Given the description of an element on the screen output the (x, y) to click on. 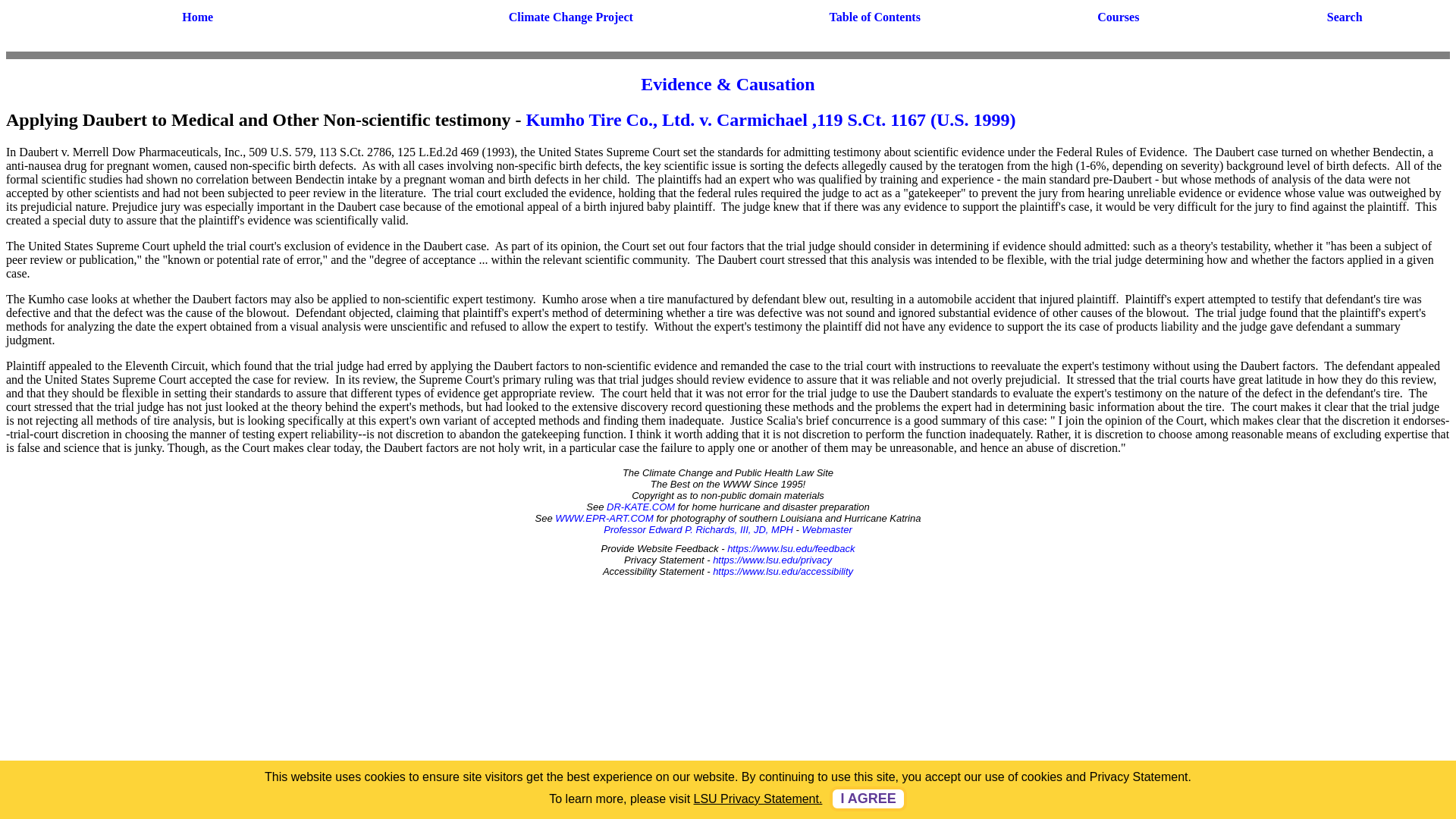
LSU Privacy Statement. (758, 798)
Webmaster (826, 529)
Courses (1117, 16)
I AGREE (867, 798)
Home (197, 16)
DR-KATE.COM (641, 506)
WWW.EPR-ART.COM (603, 518)
Climate Change Project (570, 16)
Table of Contents (874, 16)
Search (1344, 16)
Professor Edward P. Richards, III, JD, MPH (698, 529)
